Given the description of an element on the screen output the (x, y) to click on. 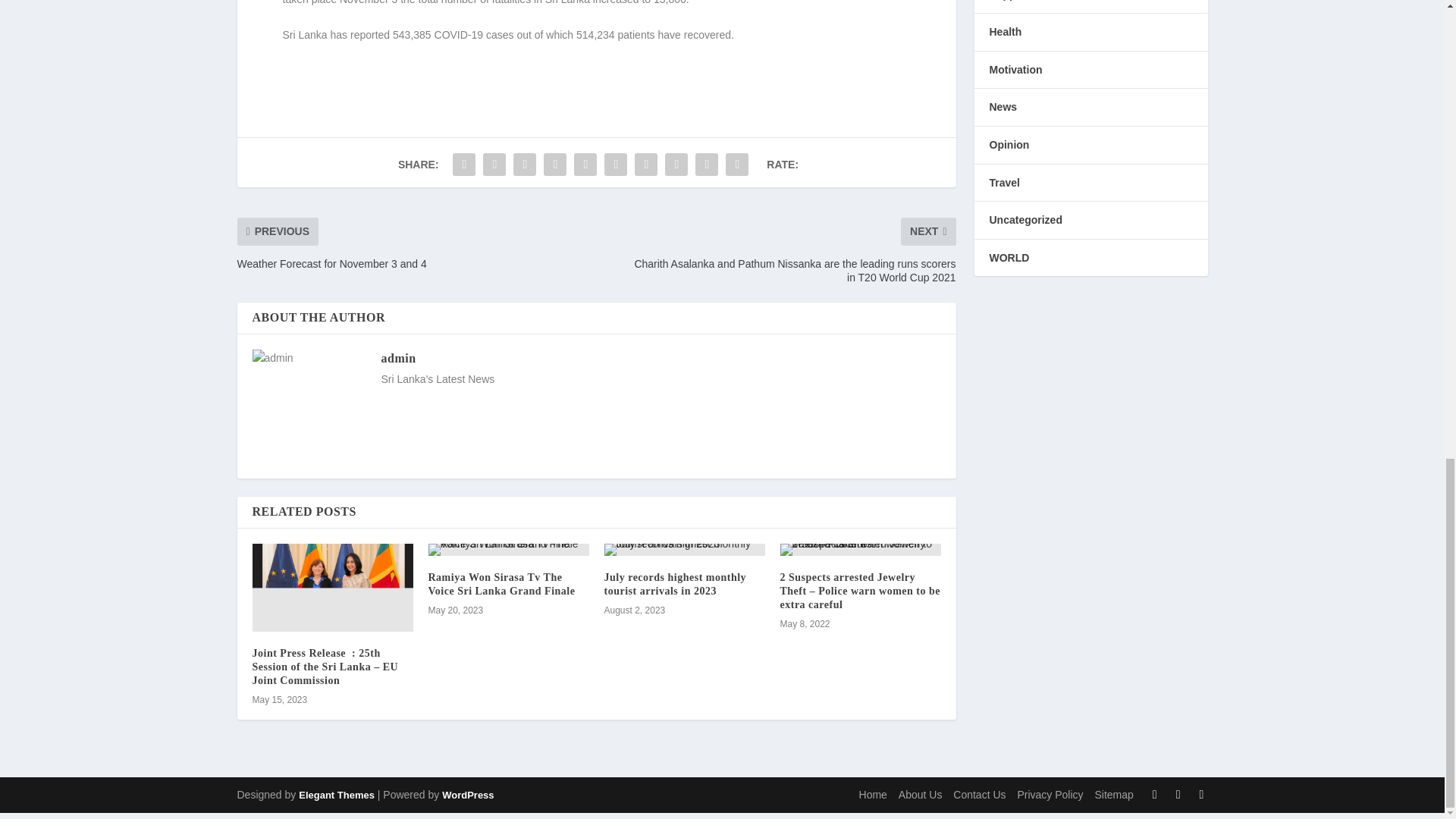
admin (397, 358)
Ramiya Won Sirasa Tv The Voice Sri Lanka Grand Finale (501, 584)
